Given the description of an element on the screen output the (x, y) to click on. 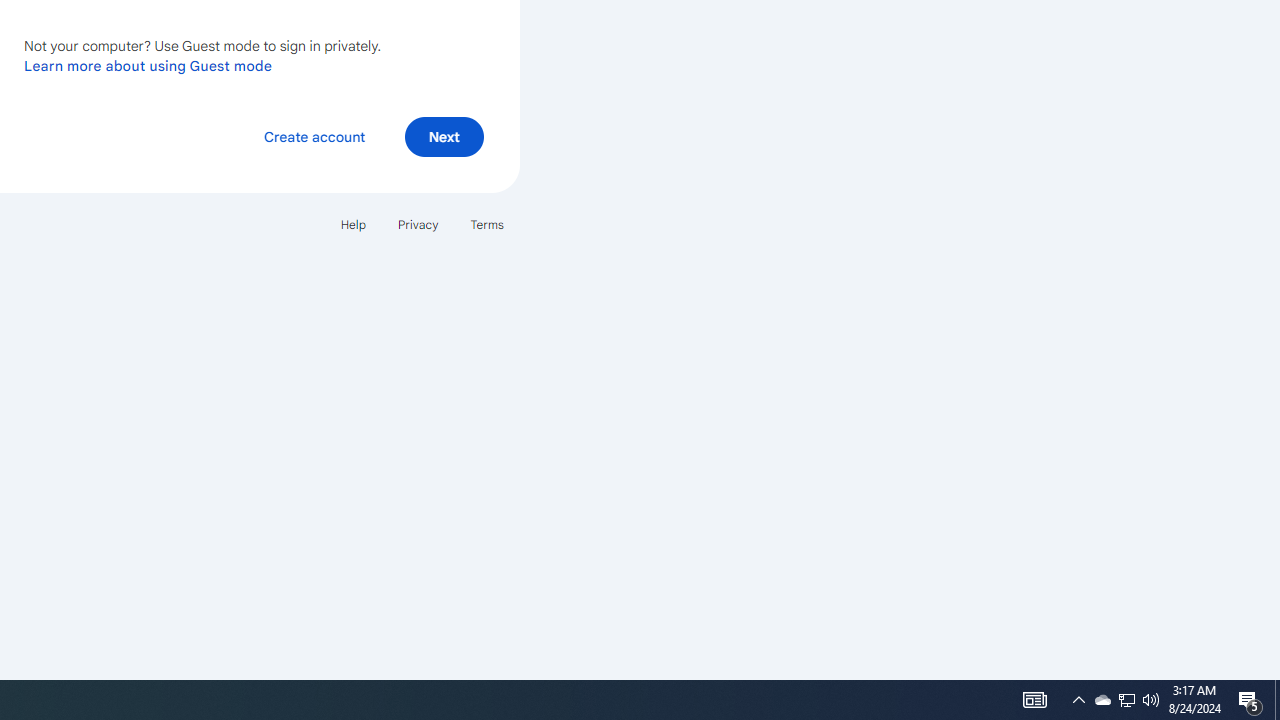
Create account (314, 135)
Learn more about using Guest mode (148, 65)
